Given the description of an element on the screen output the (x, y) to click on. 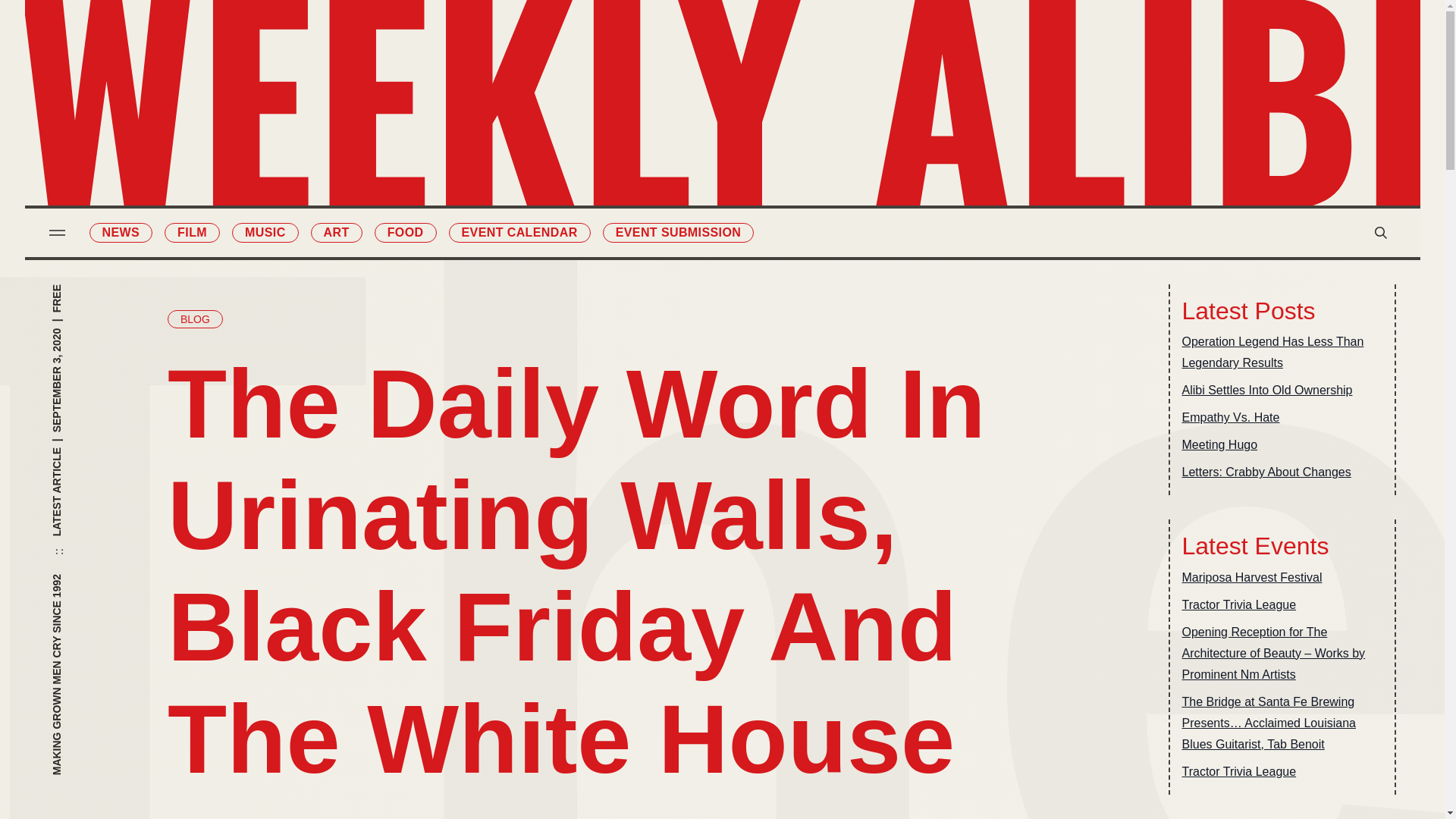
FILM (191, 232)
MUSIC (264, 232)
EVENT SUBMISSION (678, 232)
BLOG (194, 319)
EVENT CALENDAR (519, 232)
NEWS (120, 232)
ART (336, 232)
FOOD (405, 232)
